Given the description of an element on the screen output the (x, y) to click on. 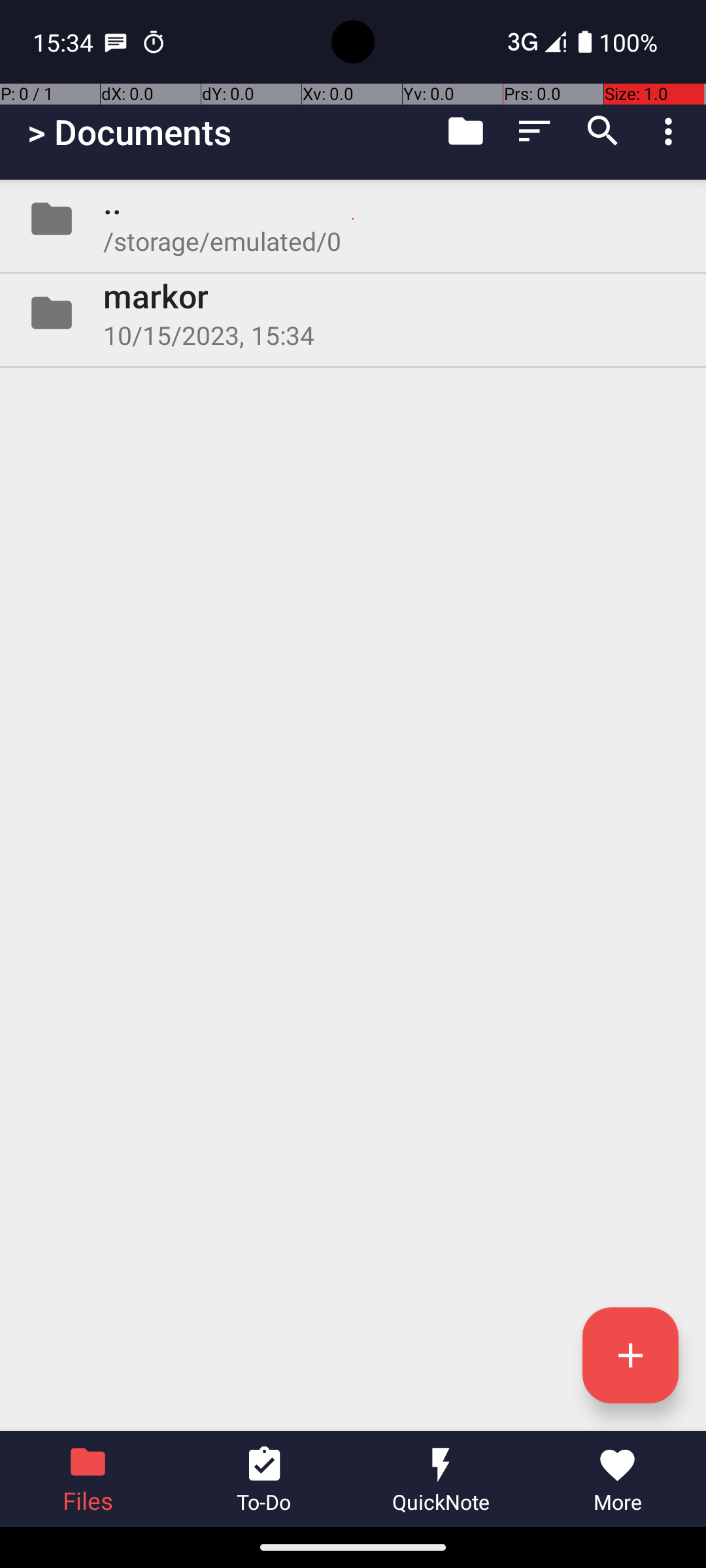
> Documents Element type: android.widget.TextView (129, 131)
Folder markor  Element type: android.widget.LinearLayout (353, 312)
